Given the description of an element on the screen output the (x, y) to click on. 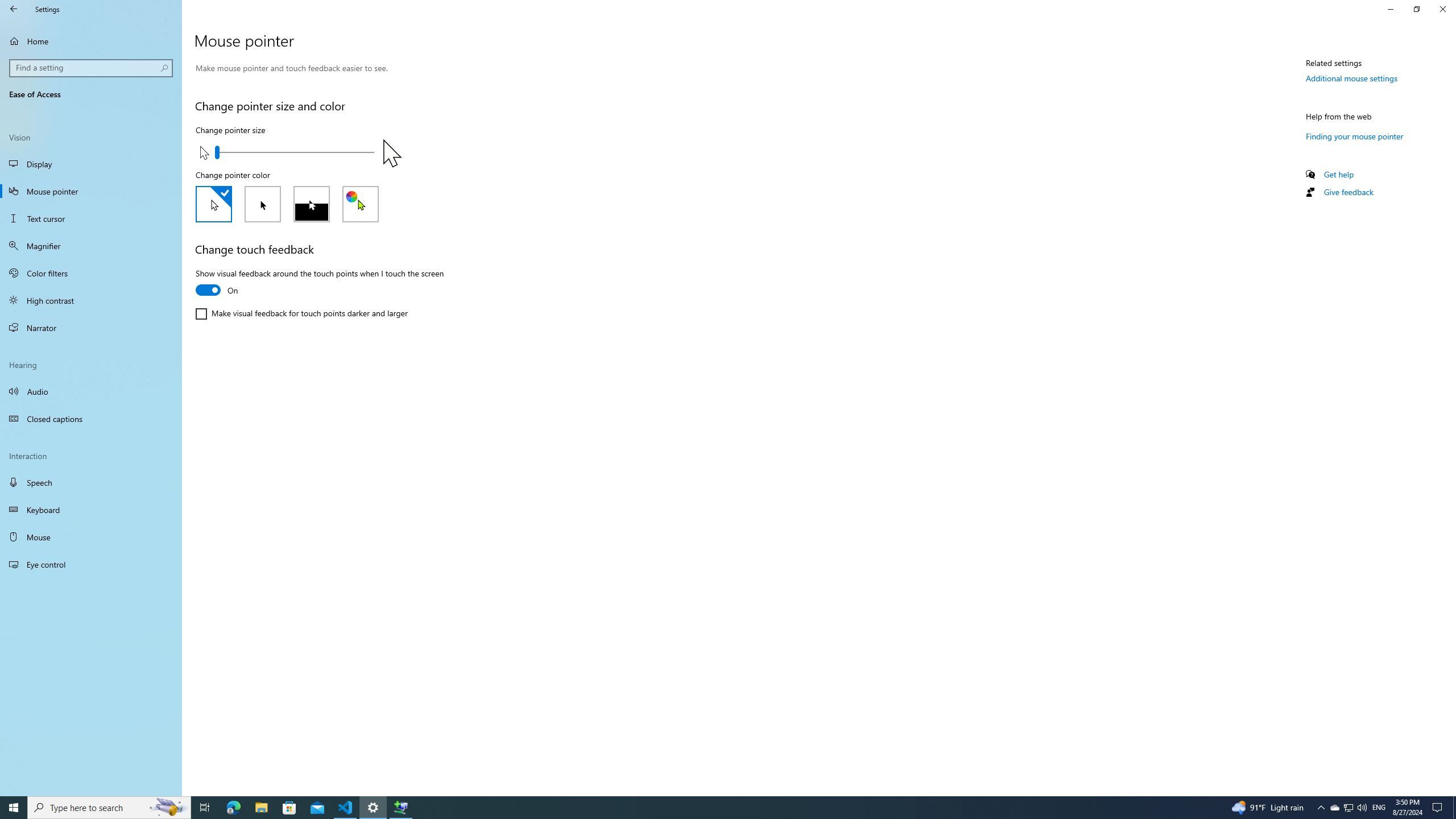
White (213, 204)
Visual Studio Code - 1 running window (345, 807)
User Promoted Notification Area (1347, 807)
Task View (204, 807)
Q2790: 100% (1361, 807)
Magnifier (91, 245)
